Given the description of an element on the screen output the (x, y) to click on. 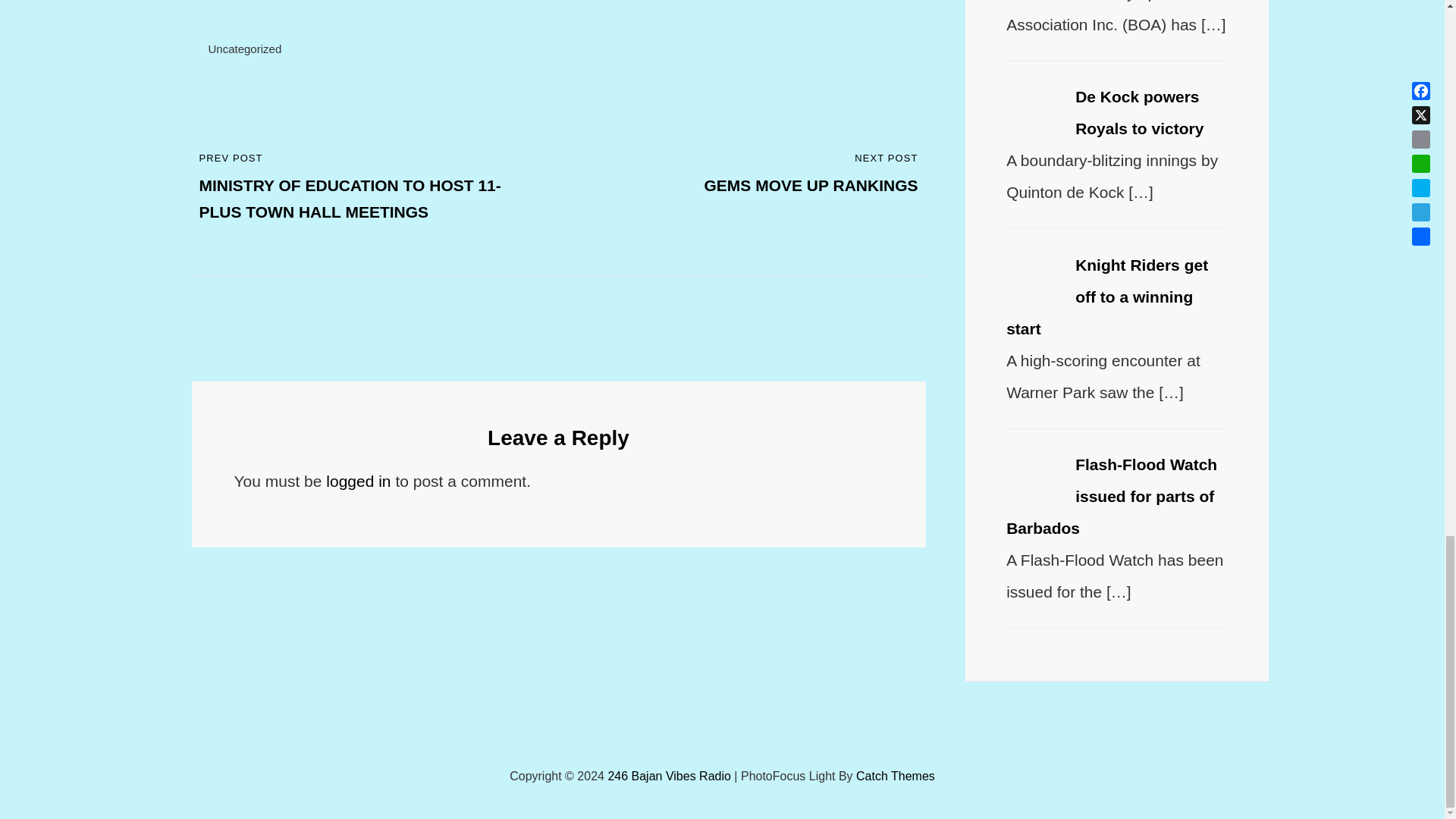
logged in (749, 174)
Uncategorized (358, 480)
